Given the description of an element on the screen output the (x, y) to click on. 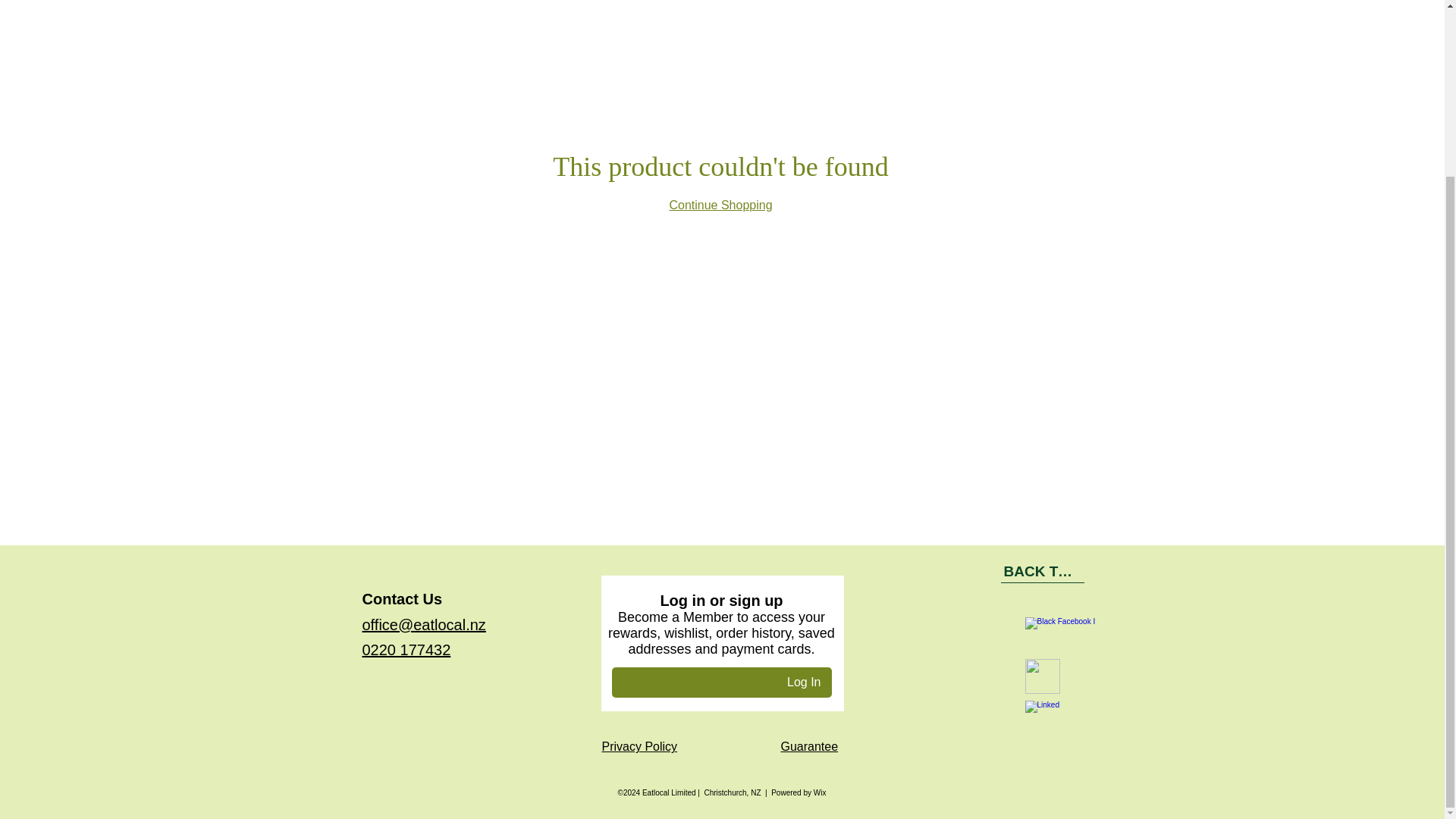
Privacy Policy (640, 746)
0220 177432 (406, 649)
Guarantee (809, 746)
Log In (803, 682)
Continue Shopping (719, 205)
BACK TO TOP (1042, 571)
